Given the description of an element on the screen output the (x, y) to click on. 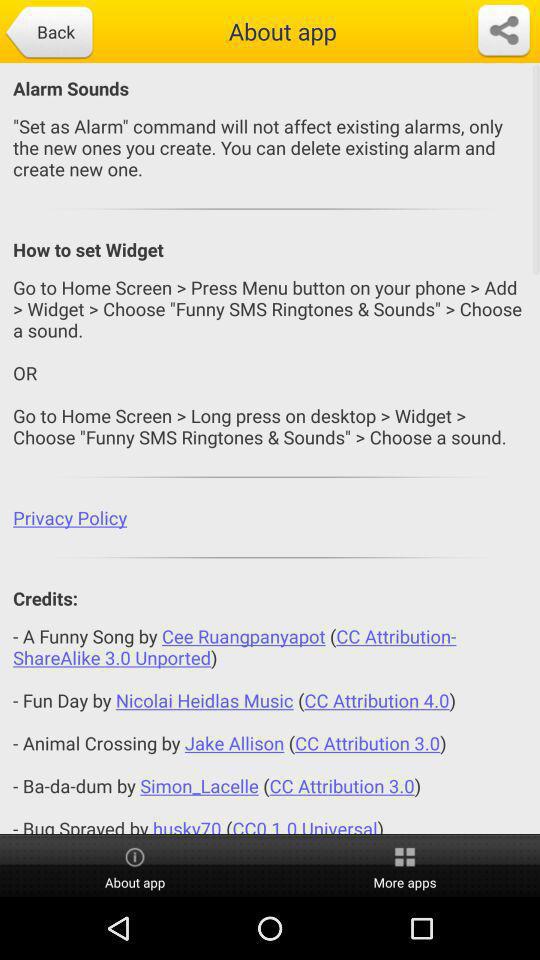
select icon at the top right corner (503, 31)
